Given the description of an element on the screen output the (x, y) to click on. 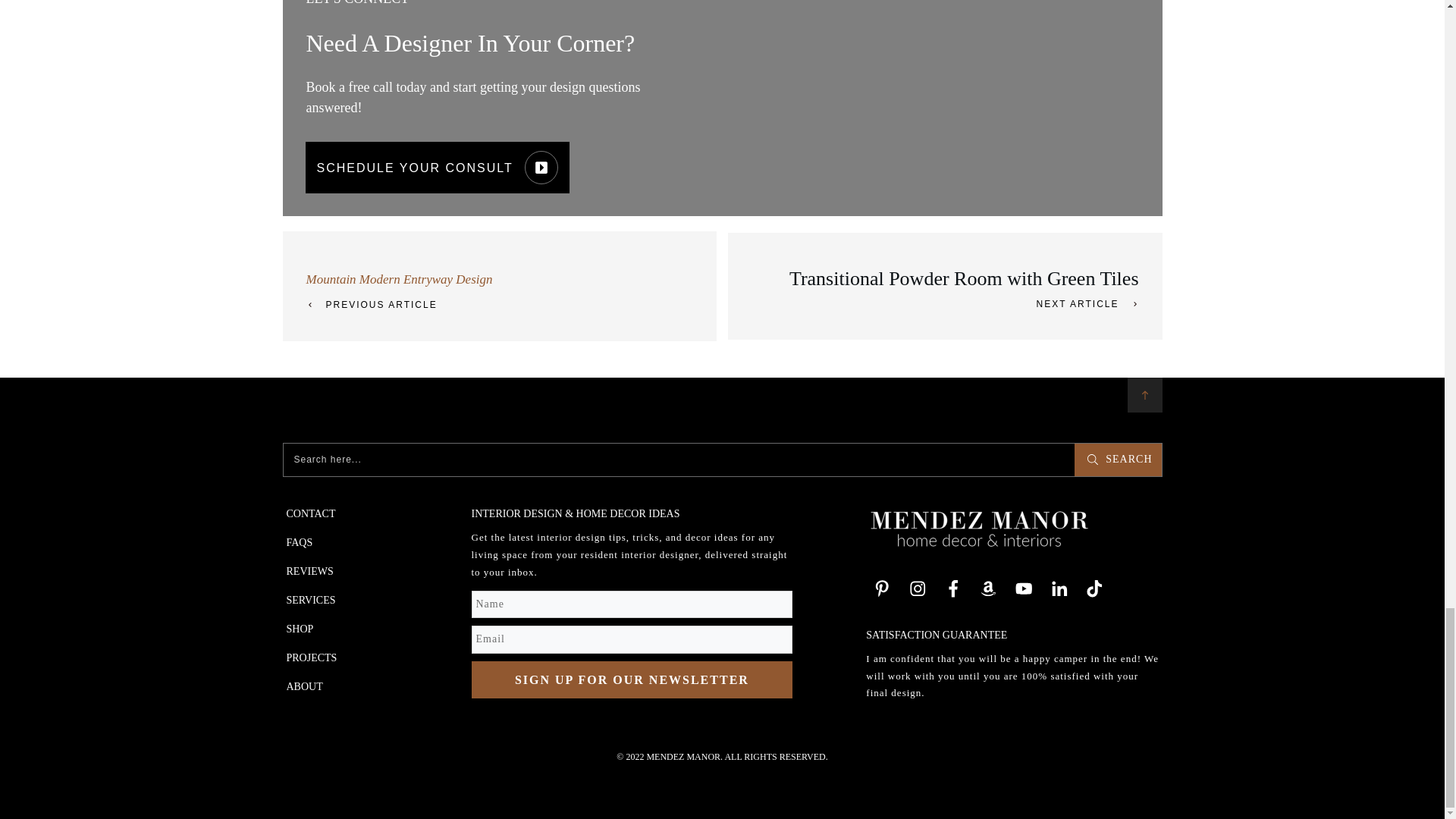
SCHEDULE YOUR CONSULT (436, 167)
Mountain Modern Entryway Design (399, 278)
PREVIOUS ARTICLE (374, 304)
NEXT ARTICLE (1084, 303)
SEARCH (1117, 459)
